Given the description of an element on the screen output the (x, y) to click on. 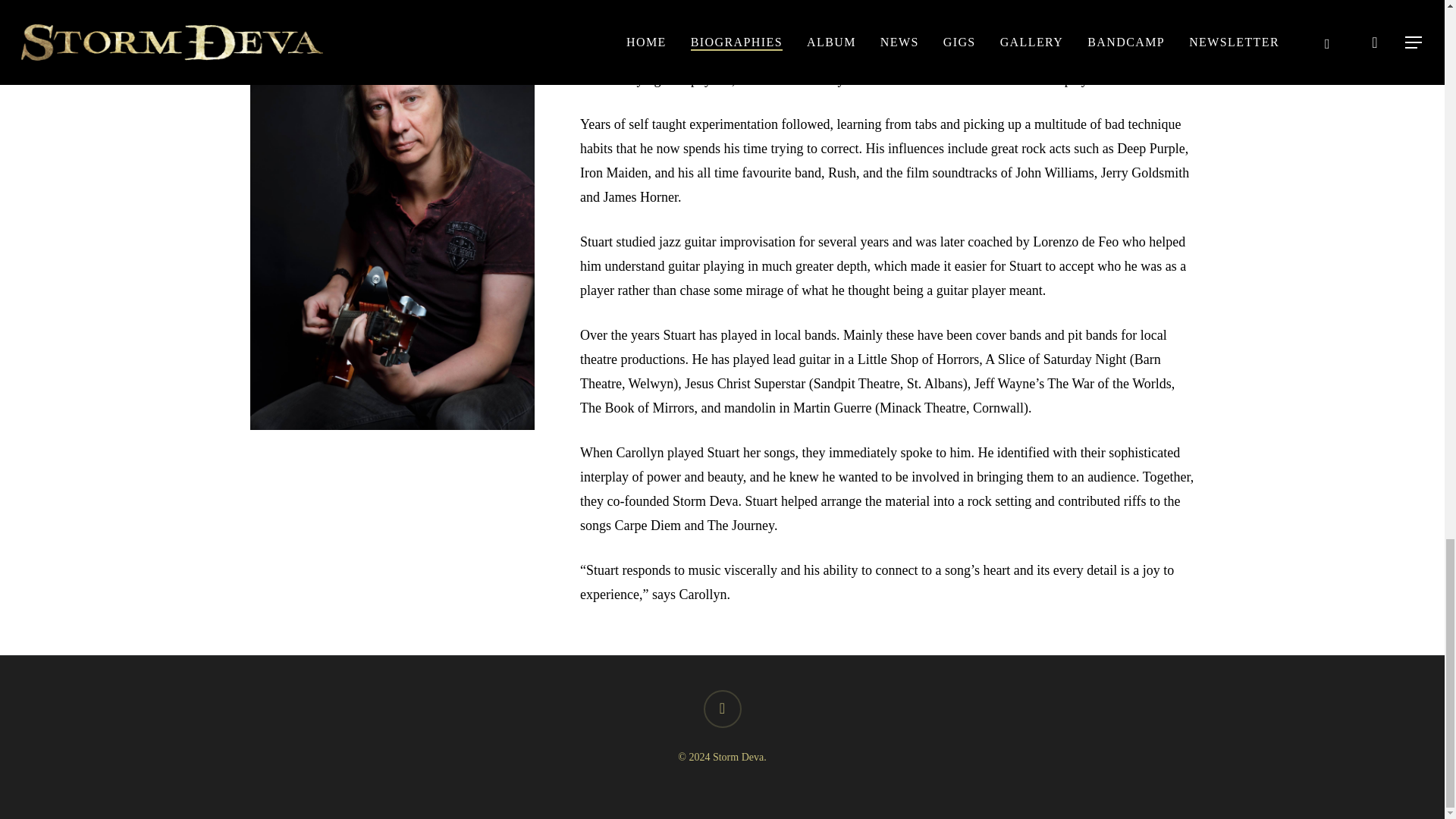
email (722, 709)
